Given the description of an element on the screen output the (x, y) to click on. 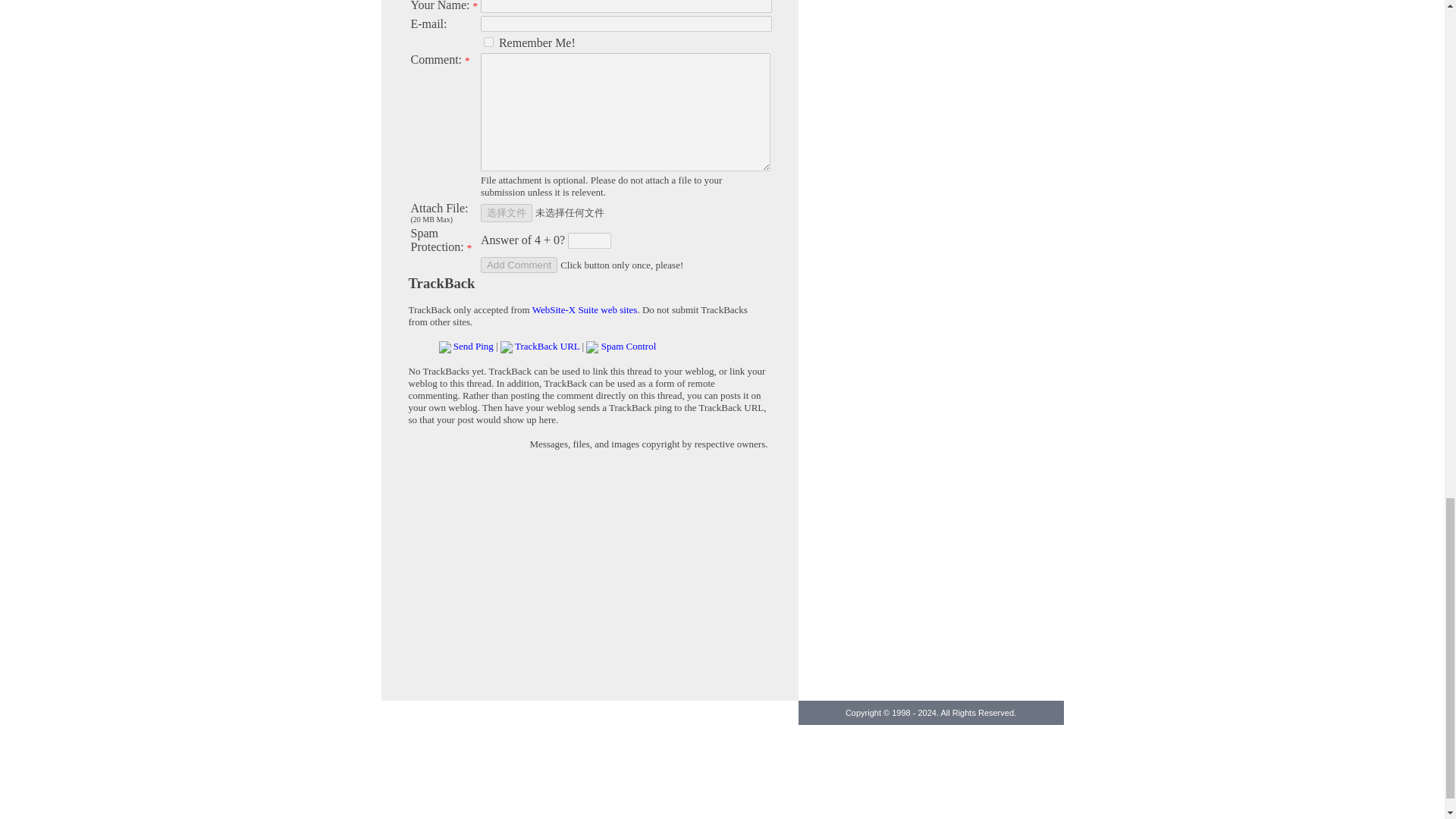
WebSite-X Suite web sites (584, 309)
TrackBack (440, 283)
Add Comment (518, 264)
Send Ping (472, 346)
yes (488, 41)
Add Comment (518, 264)
